Given the description of an element on the screen output the (x, y) to click on. 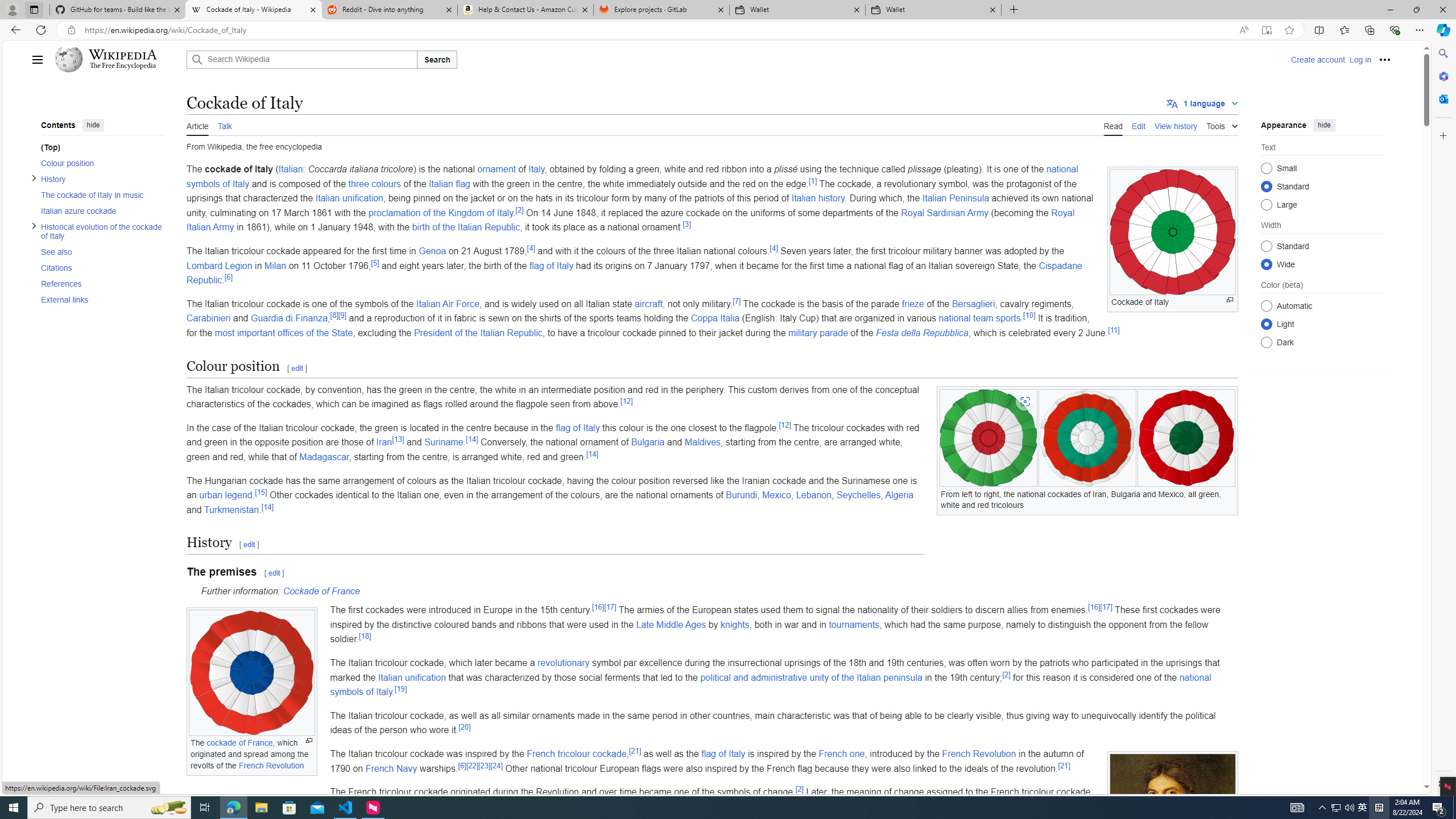
Cockade of Italy - Wikipedia (253, 9)
Suriname (443, 442)
(Top) (98, 146)
[14] (266, 506)
aircraft (648, 303)
[4] (773, 247)
Guardia di Finanza (288, 318)
military parade (817, 332)
revolutionary (563, 662)
